Given the description of an element on the screen output the (x, y) to click on. 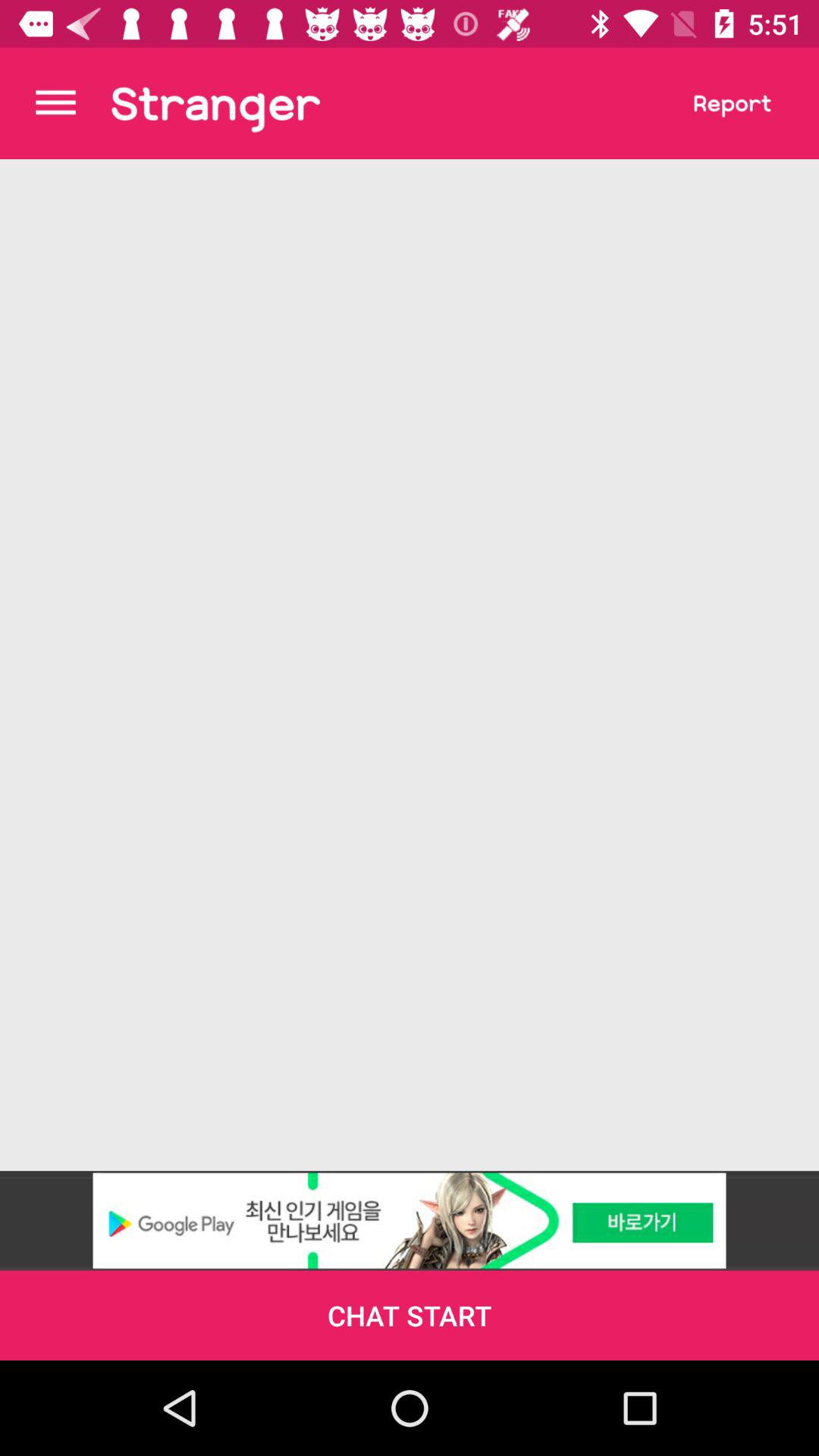
report link (732, 103)
